Given the description of an element on the screen output the (x, y) to click on. 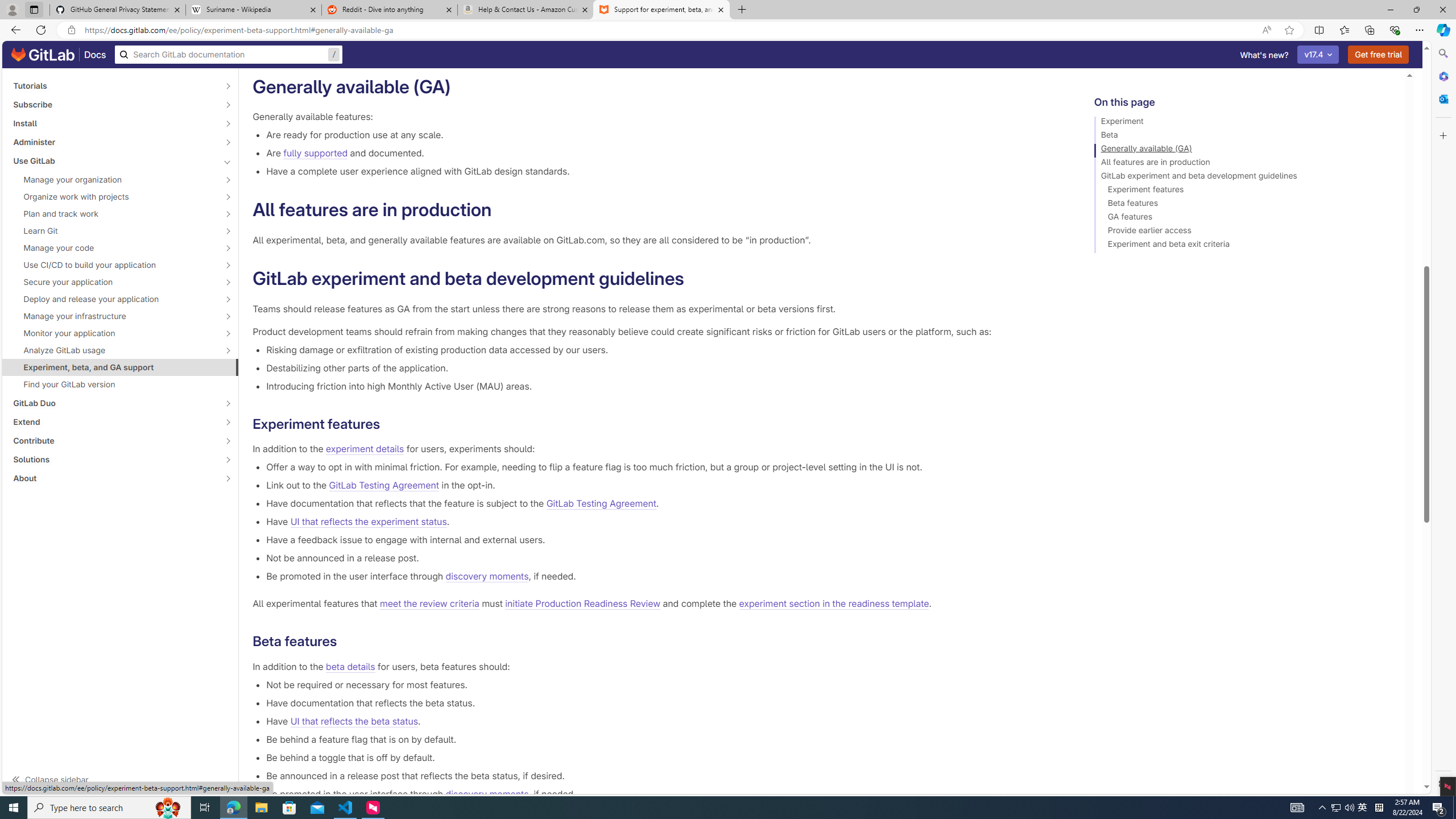
initiate Production Readiness Review (583, 603)
Manage your organization (113, 179)
Manage your infrastructure (113, 316)
GitLab Testing Agreement (601, 503)
Monitor your application (113, 333)
Collapse sidebar (120, 779)
Generally available (GA) (1244, 150)
Not be required or necessary for most features. (662, 684)
